Given the description of an element on the screen output the (x, y) to click on. 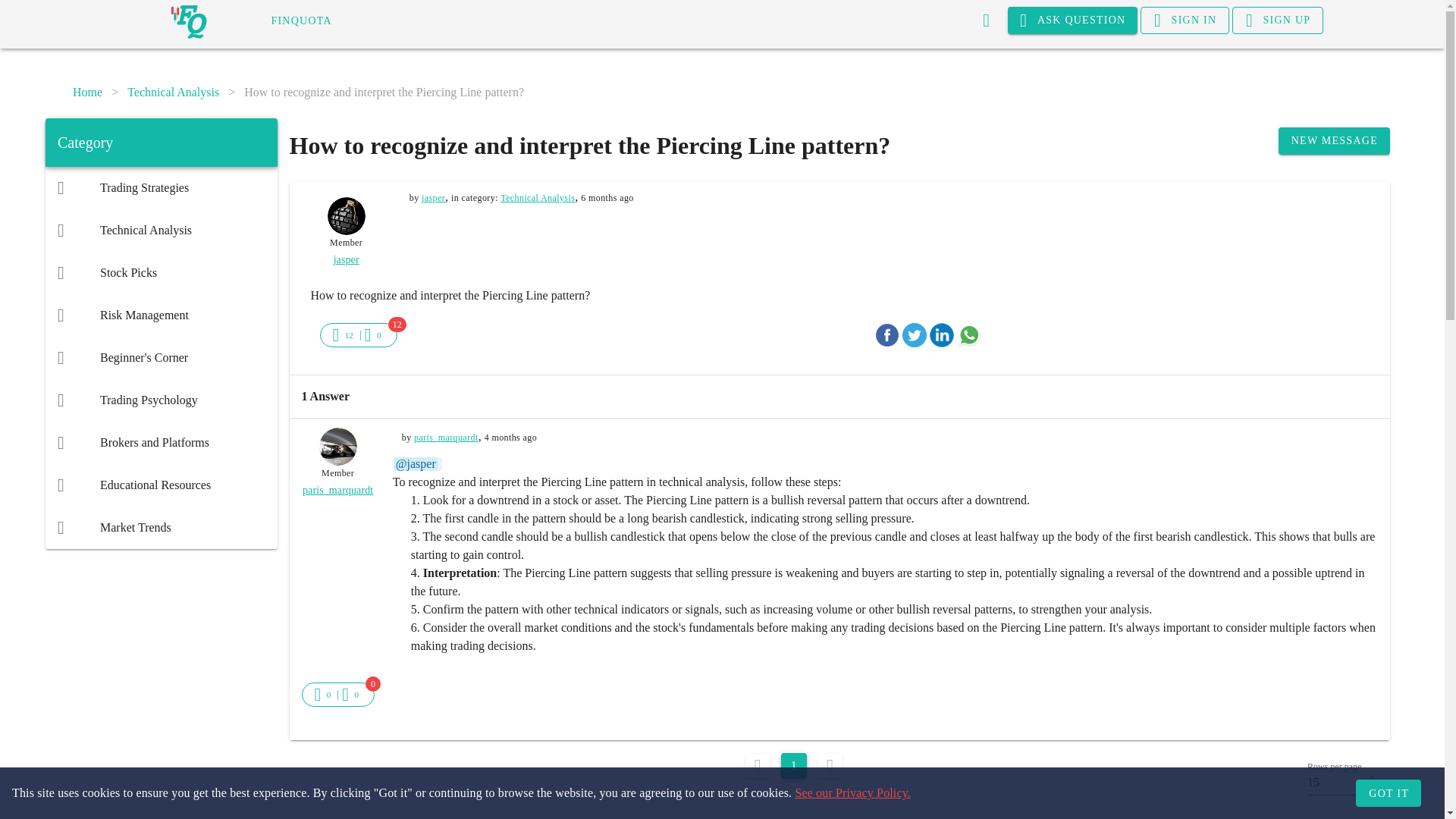
Technical Analysis (161, 230)
Stock Picks (161, 272)
NEW MESSAGE (1334, 140)
Whatsapp (968, 334)
12 likes (349, 334)
Trading Psychology (161, 400)
12 (343, 334)
jasper (433, 197)
Risk Management (161, 315)
ASK QUESTION (1072, 20)
